Given the description of an element on the screen output the (x, y) to click on. 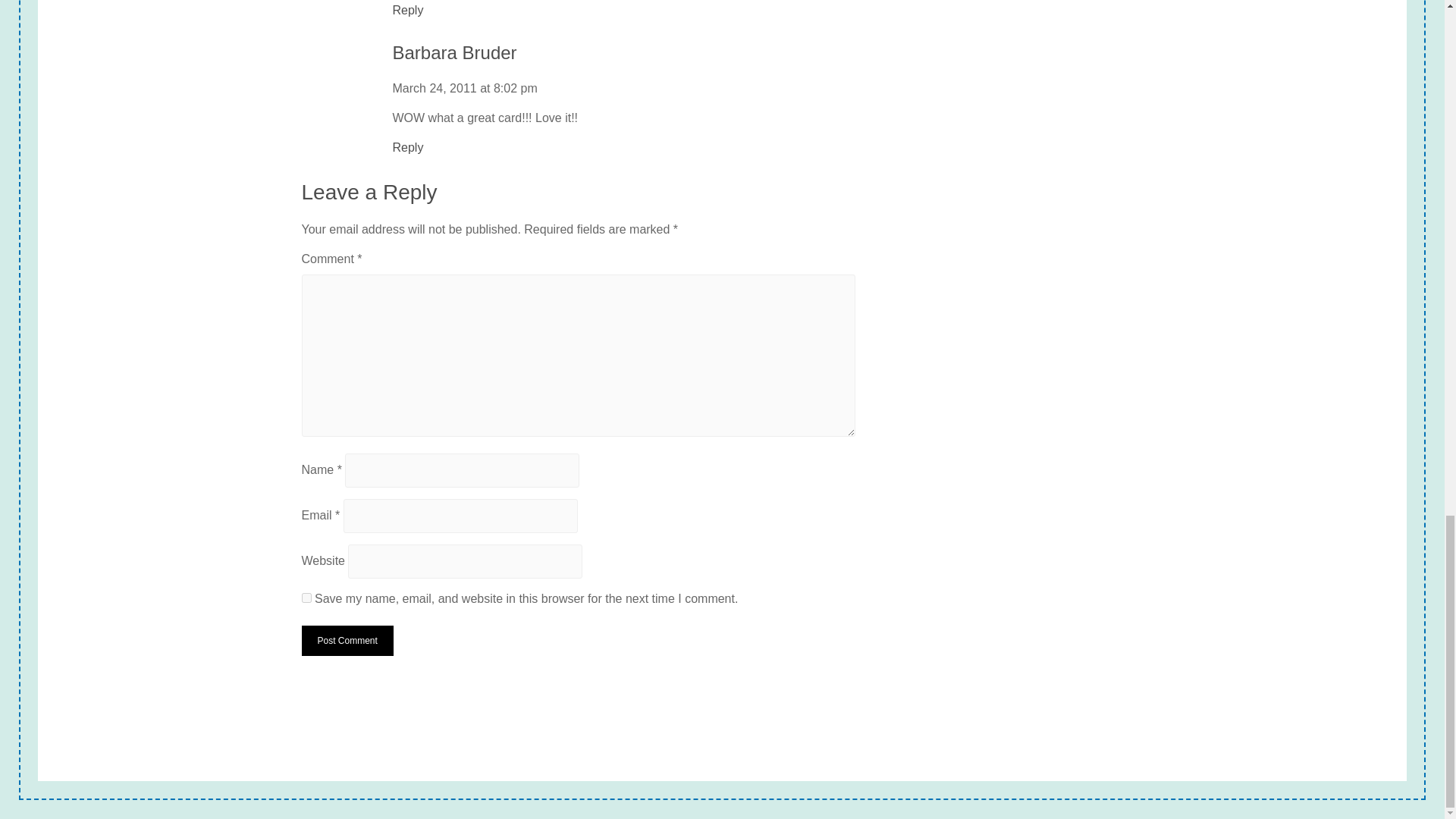
yes (306, 597)
Reply (408, 147)
Post Comment (347, 640)
Barbara Bruder (454, 53)
Post Comment (347, 640)
Reply (408, 10)
